Given the description of an element on the screen output the (x, y) to click on. 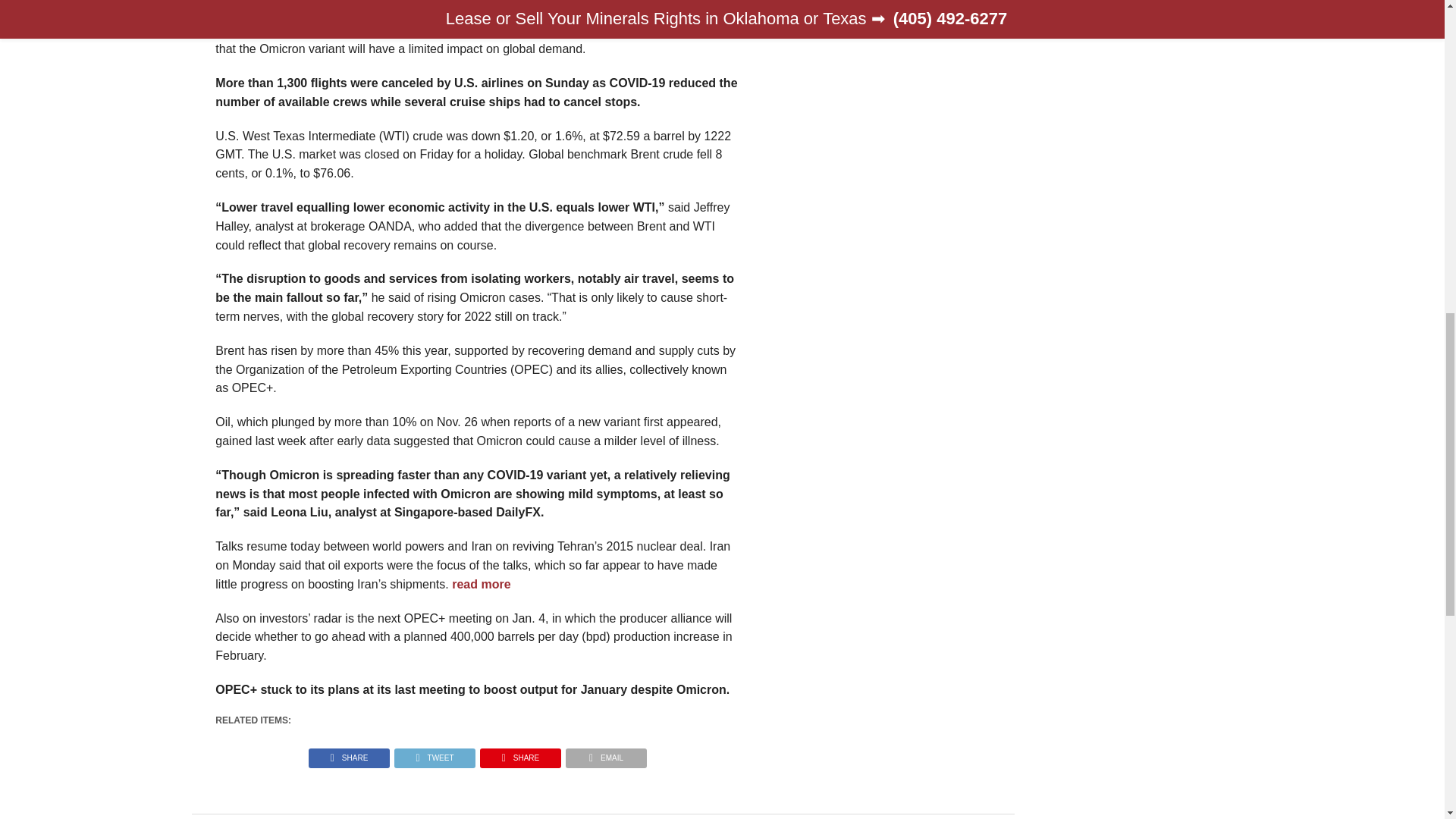
Tweet This Post (434, 753)
Pin This Post (520, 753)
Share on Facebook (349, 753)
